Given the description of an element on the screen output the (x, y) to click on. 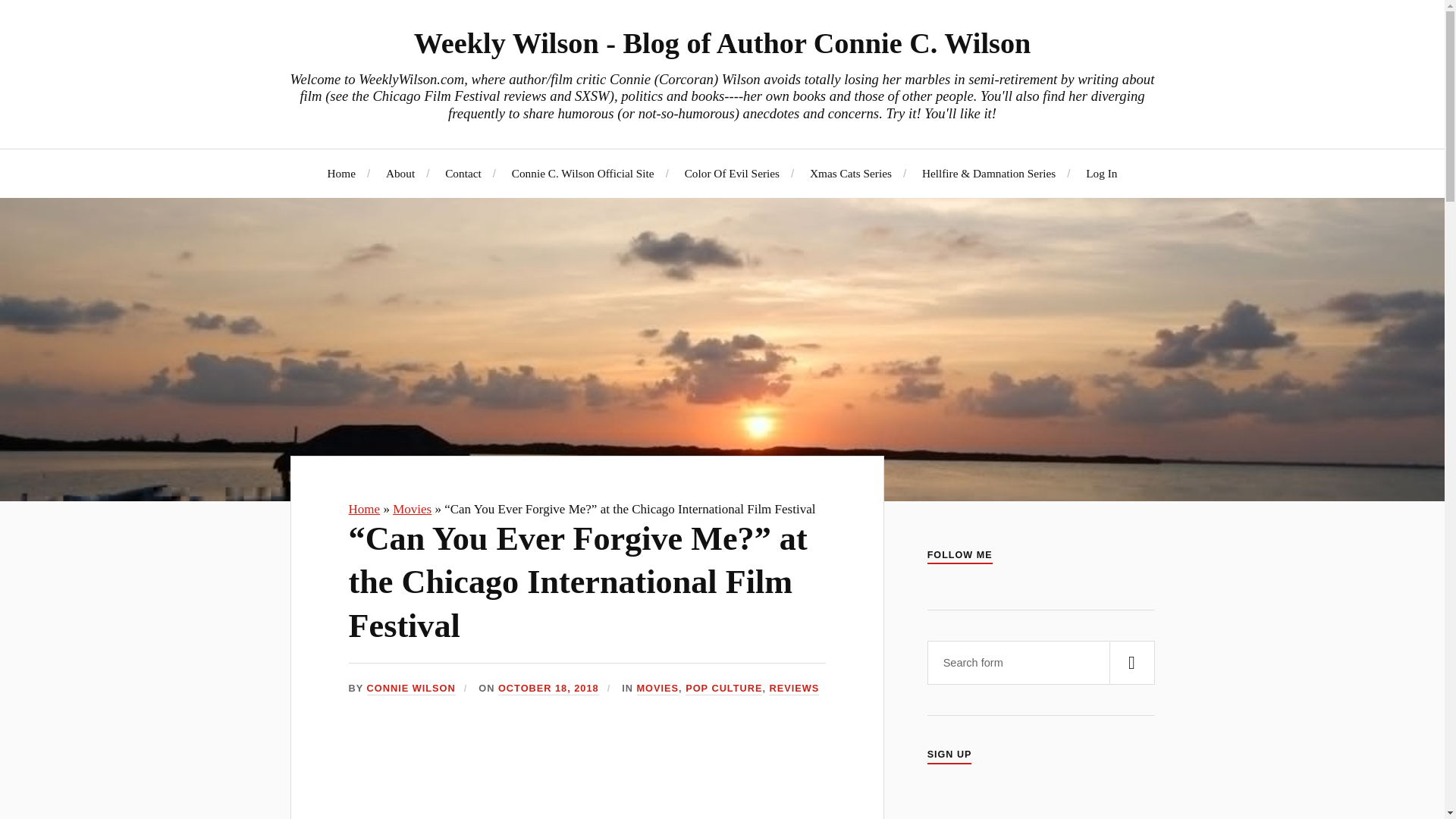
CONNIE WILSON (410, 688)
Home (364, 509)
Home (364, 509)
POP CULTURE (723, 688)
Weekly Wilson - Blog of Author Connie C. Wilson (721, 42)
MOVIES (658, 688)
Color Of Evil Series (731, 173)
Movies (411, 509)
Connie C. Wilson Official Site (582, 173)
REVIEWS (793, 688)
